Given the description of an element on the screen output the (x, y) to click on. 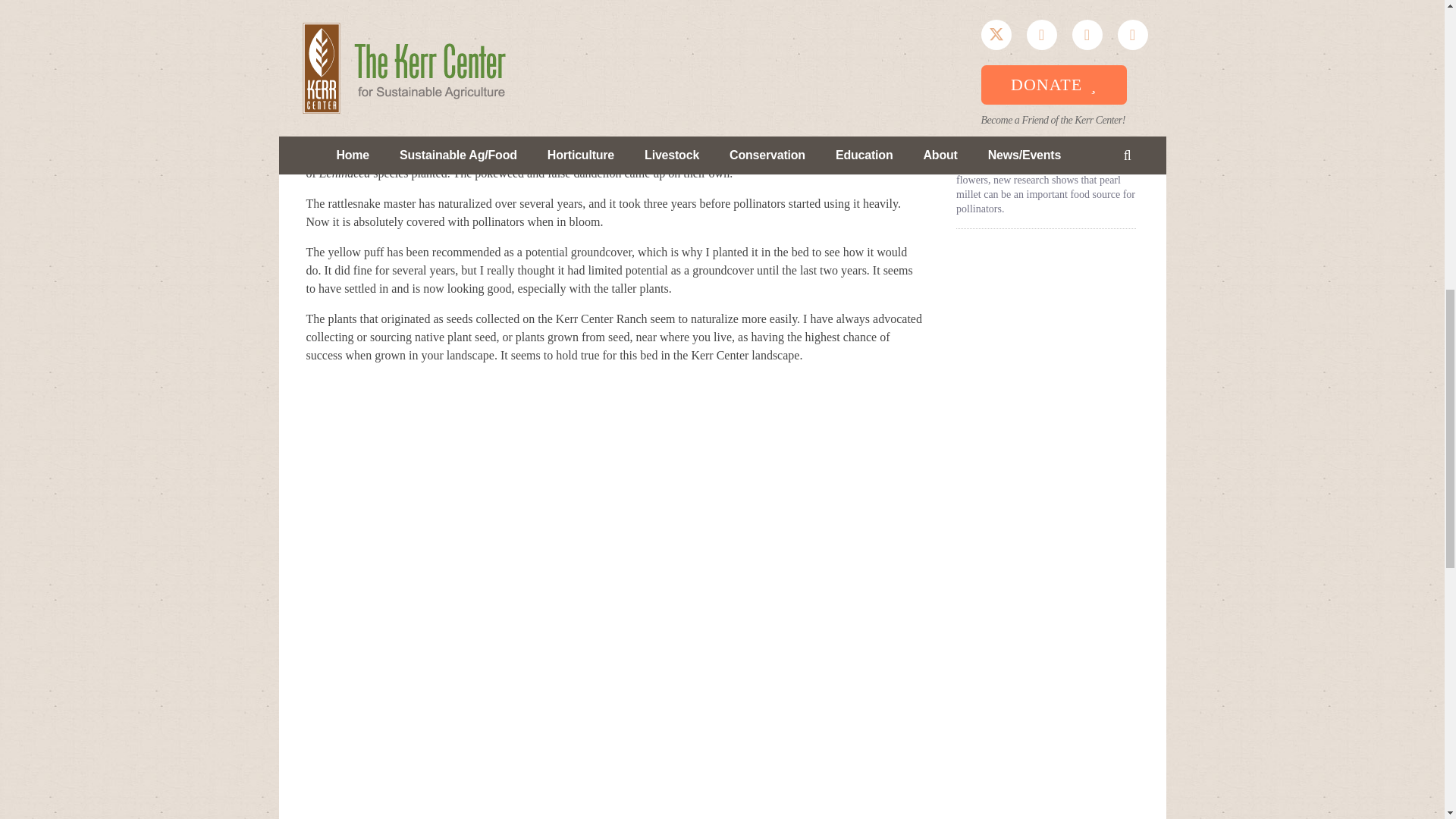
Back to top (1413, 26)
